Given the description of an element on the screen output the (x, y) to click on. 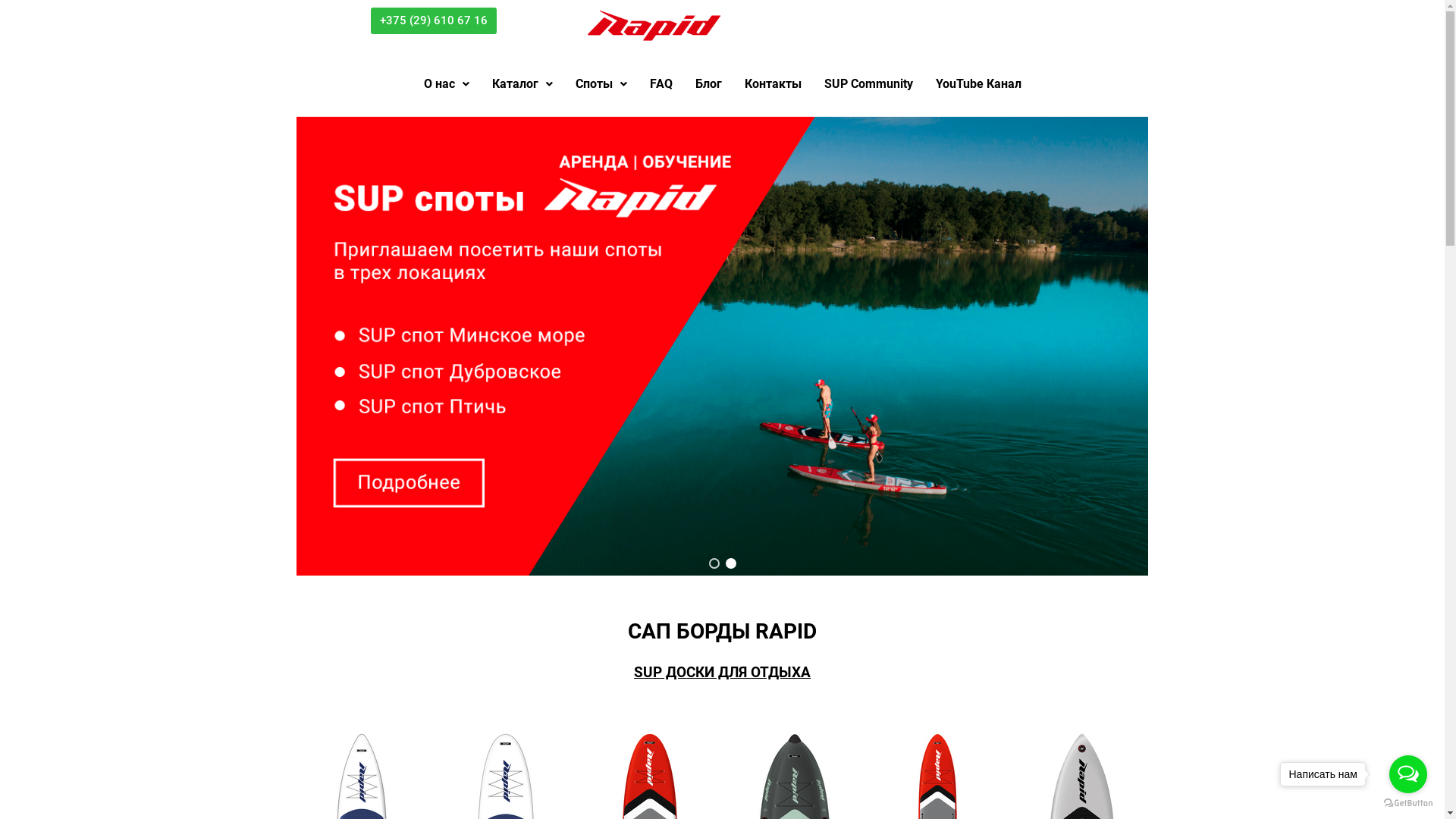
SUP Community Element type: text (868, 83)
FAQ Element type: text (661, 83)
+375 (29) 610 67 16 Element type: text (433, 20)
